Given the description of an element on the screen output the (x, y) to click on. 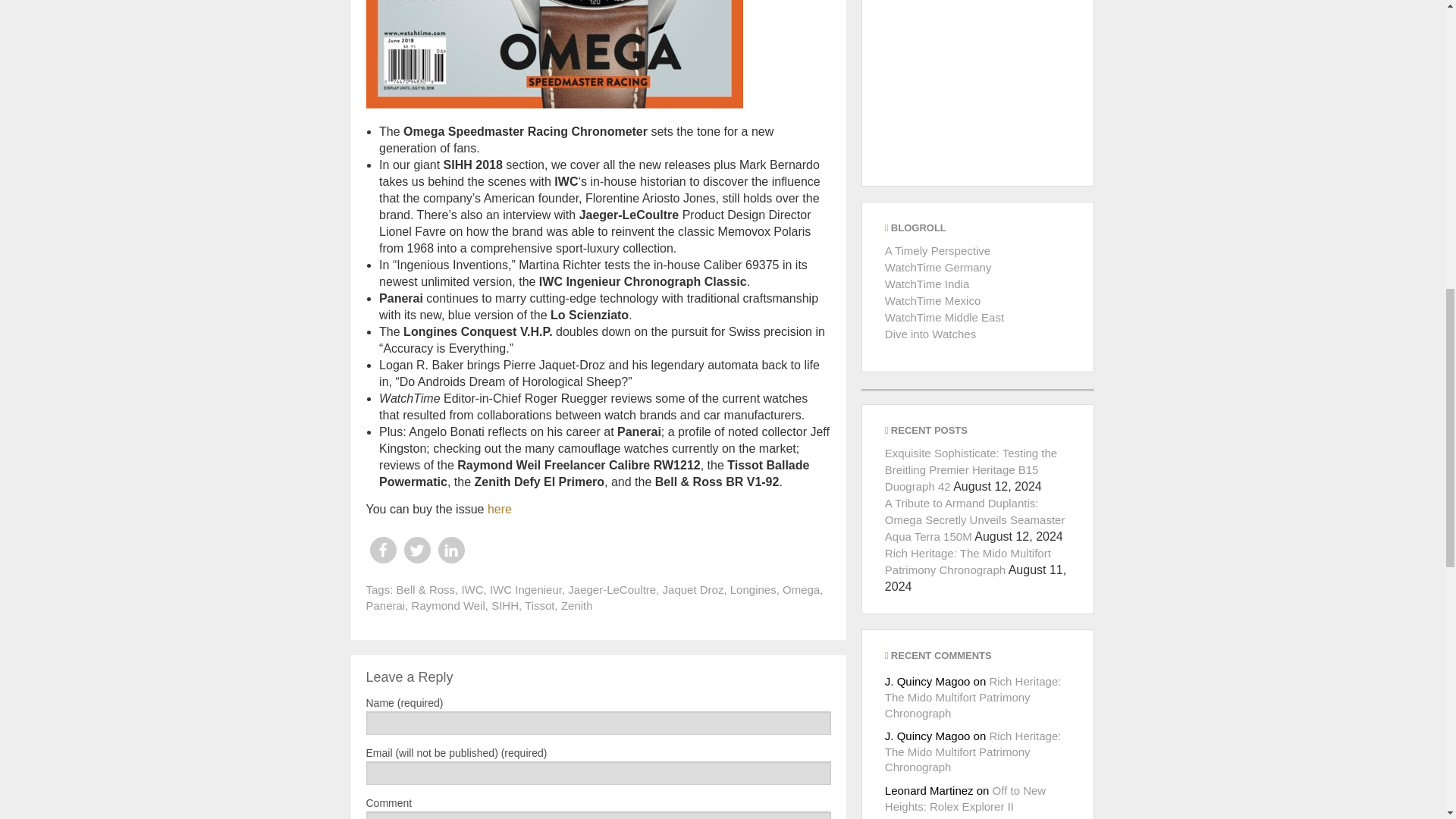
Share on Facebook (382, 550)
Share on Twitter (416, 550)
Share on LinkedIn (451, 550)
